Given the description of an element on the screen output the (x, y) to click on. 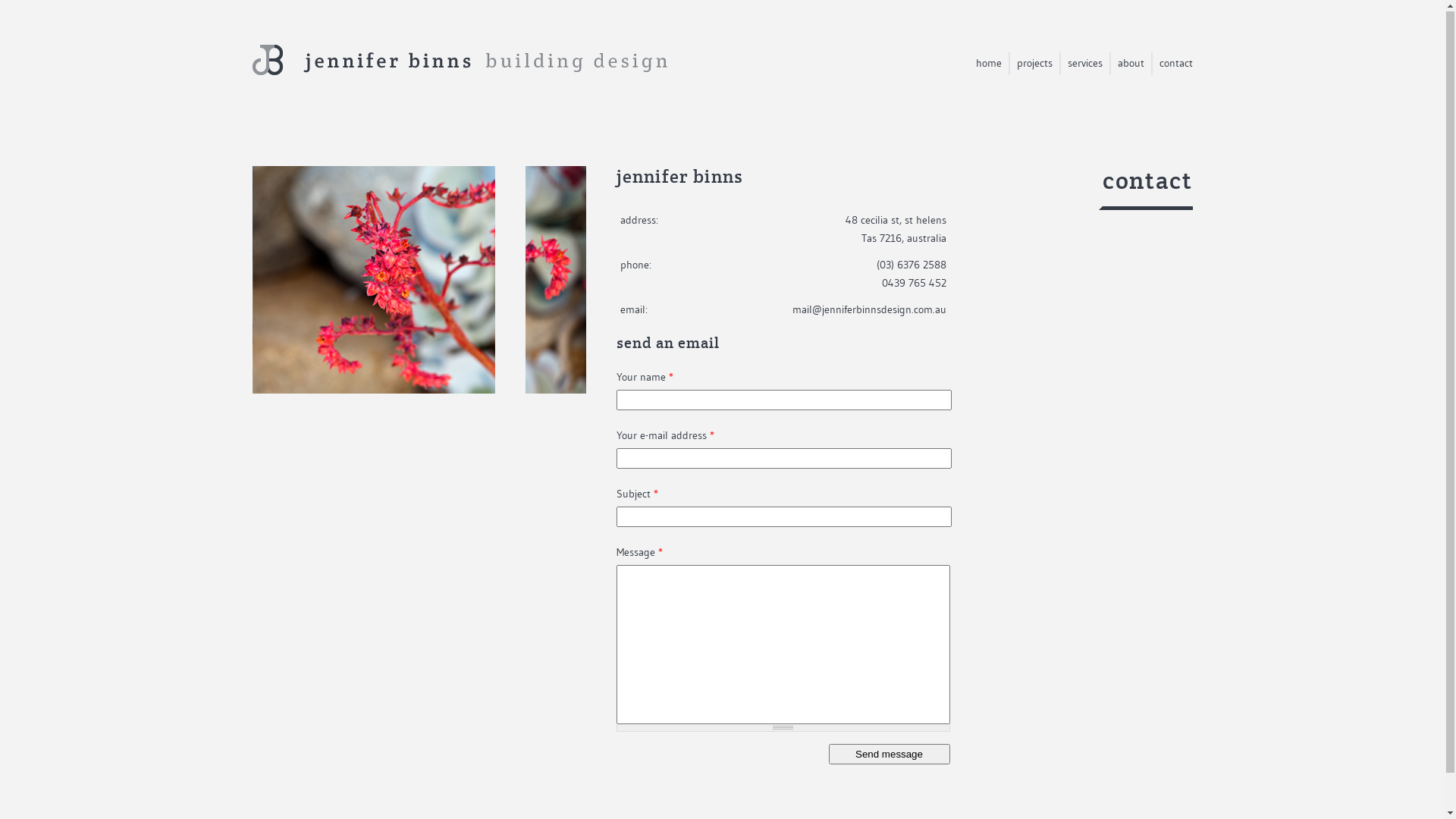
projects Element type: text (1033, 63)
Send message Element type: text (888, 754)
mail@jenniferbinnsdesign.com.au Element type: text (868, 309)
Jennifer Binns Building Design Element type: text (459, 53)
home Element type: text (988, 63)
services Element type: text (1084, 63)
contact Element type: text (1175, 63)
about Element type: text (1130, 63)
